Given the description of an element on the screen output the (x, y) to click on. 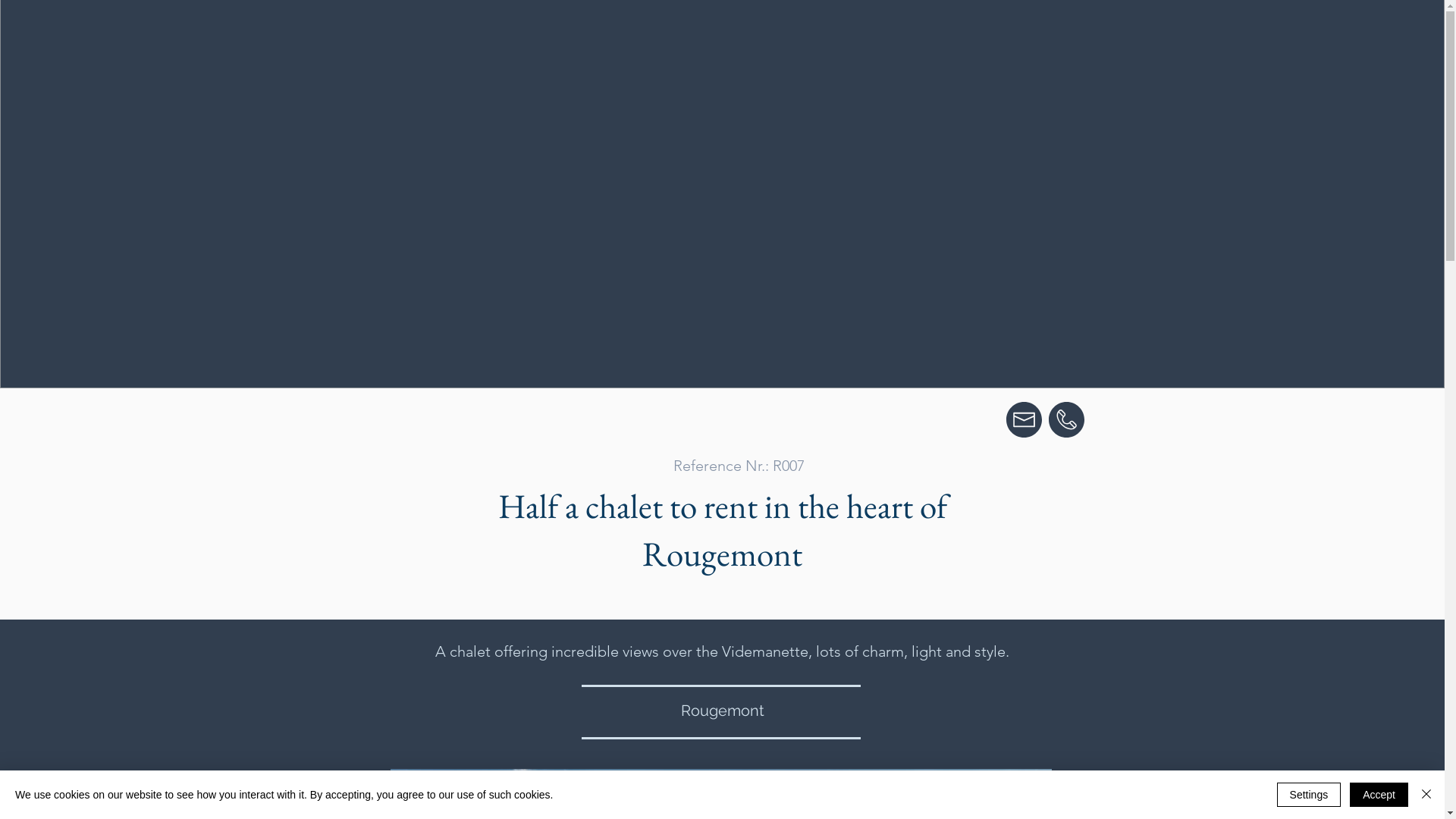
Concierge Services Element type: text (809, 39)
Contact Element type: text (1053, 39)
Accept Element type: text (1378, 794)
Settings Element type: text (1309, 794)
Real Estate Consulting Element type: text (674, 39)
Sell, Buy & Rent Element type: text (548, 39)
Activities Element type: text (909, 39)
About Us Element type: text (983, 39)
